Given the description of an element on the screen output the (x, y) to click on. 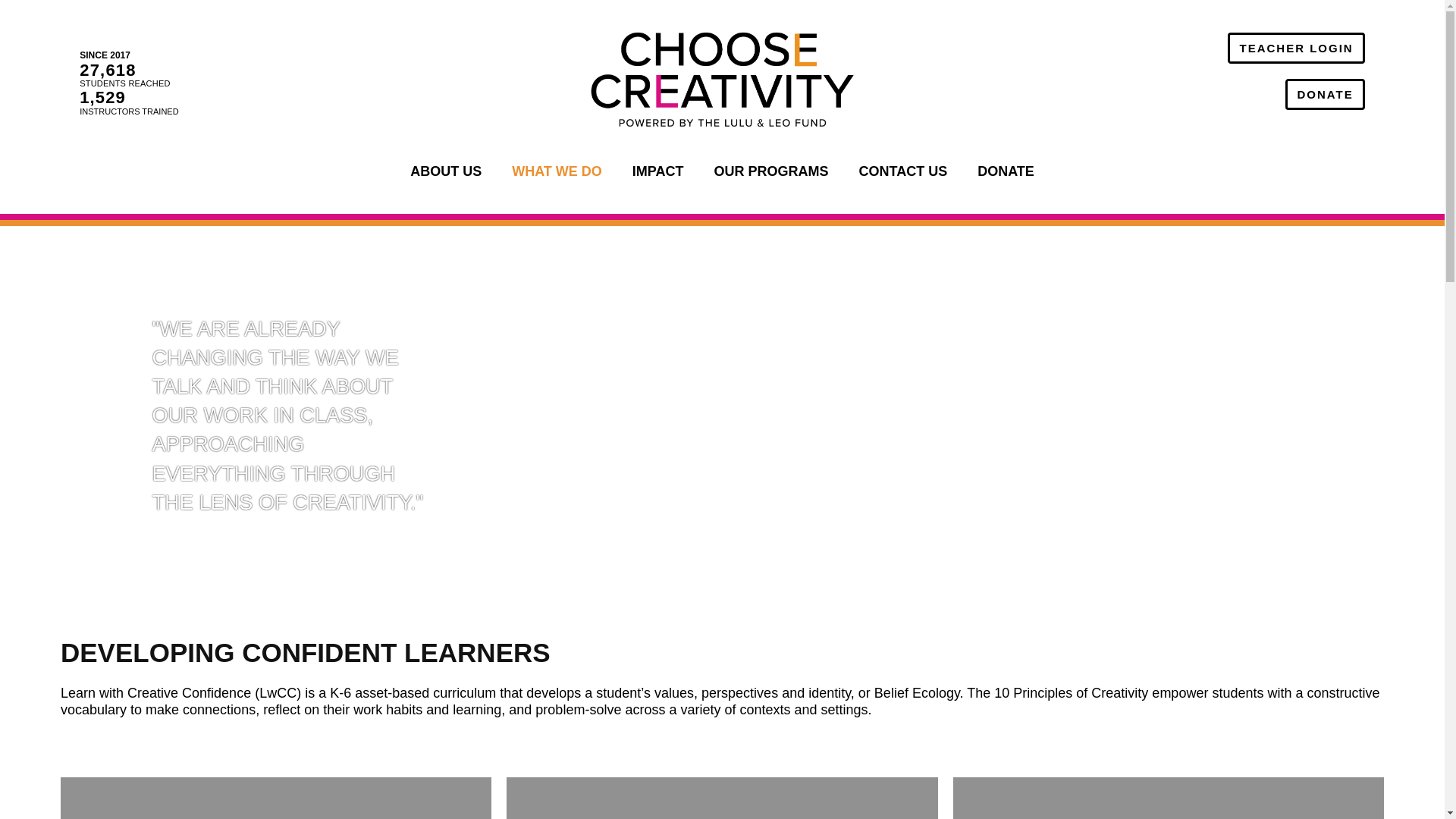
IMPACT (657, 171)
DONATE (1005, 171)
WHAT WE DO (556, 171)
DONATE (1324, 93)
CONTACT US (902, 171)
ABOUT US (445, 171)
OUR PROGRAMS (770, 171)
TEACHER LOGIN (1295, 47)
